Given the description of an element on the screen output the (x, y) to click on. 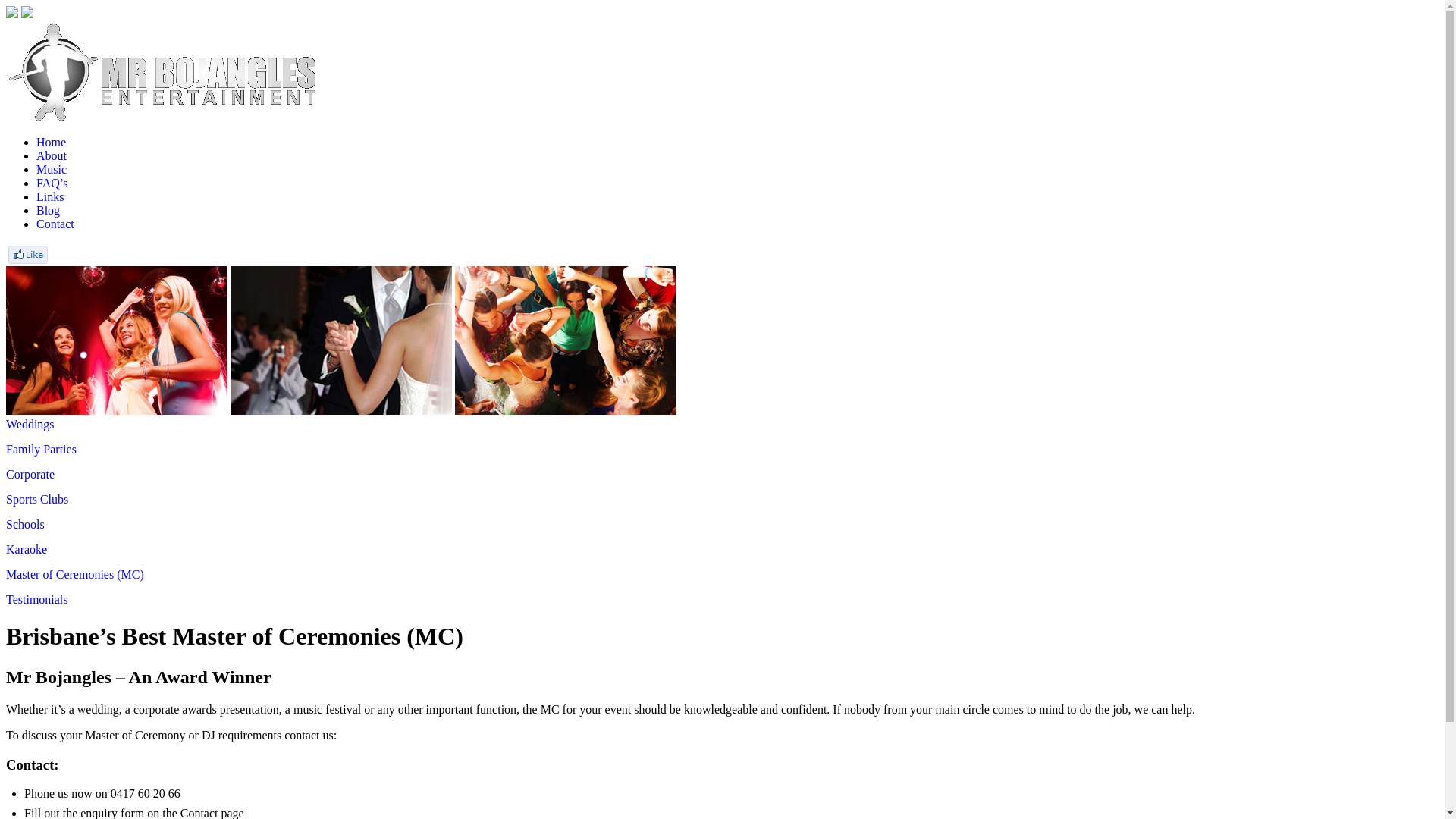
Sports Clubs Element type: text (37, 498)
Family Parties Element type: text (41, 448)
Blog Element type: text (47, 209)
Weddings Element type: text (30, 423)
Schools Element type: text (25, 523)
Home Element type: text (50, 141)
About Element type: text (51, 155)
Contact Element type: text (55, 223)
Karaoke Element type: text (26, 548)
Links Element type: text (49, 196)
Testimonials Element type: text (37, 599)
Music Element type: text (51, 169)
Master of Ceremonies (MC) Element type: text (75, 573)
Corporate Element type: text (30, 473)
